Given the description of an element on the screen output the (x, y) to click on. 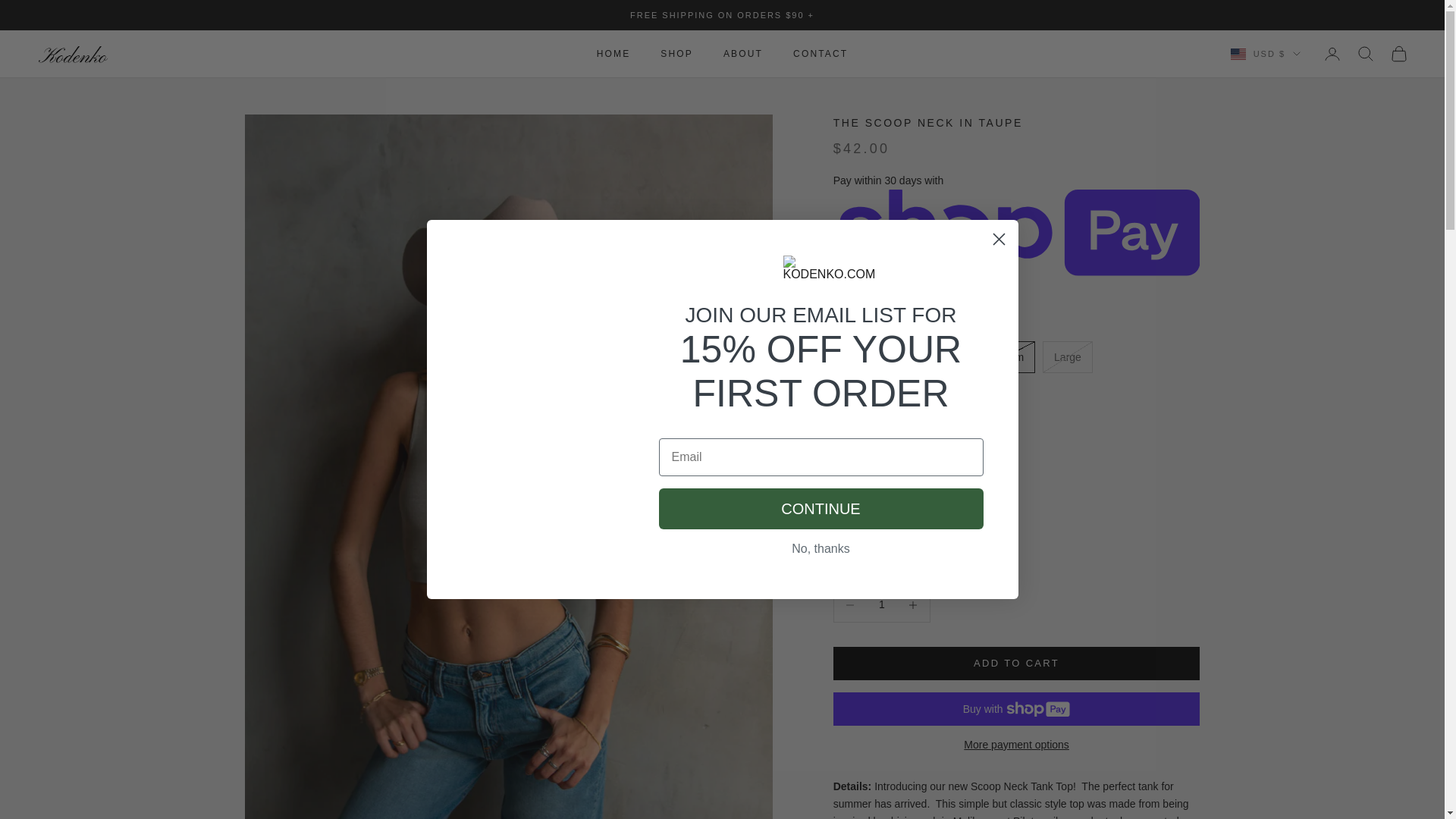
CONTACT (820, 53)
Kodenko Apparel (74, 54)
1 (881, 604)
HOME (613, 53)
ABOUT (742, 53)
